Given the description of an element on the screen output the (x, y) to click on. 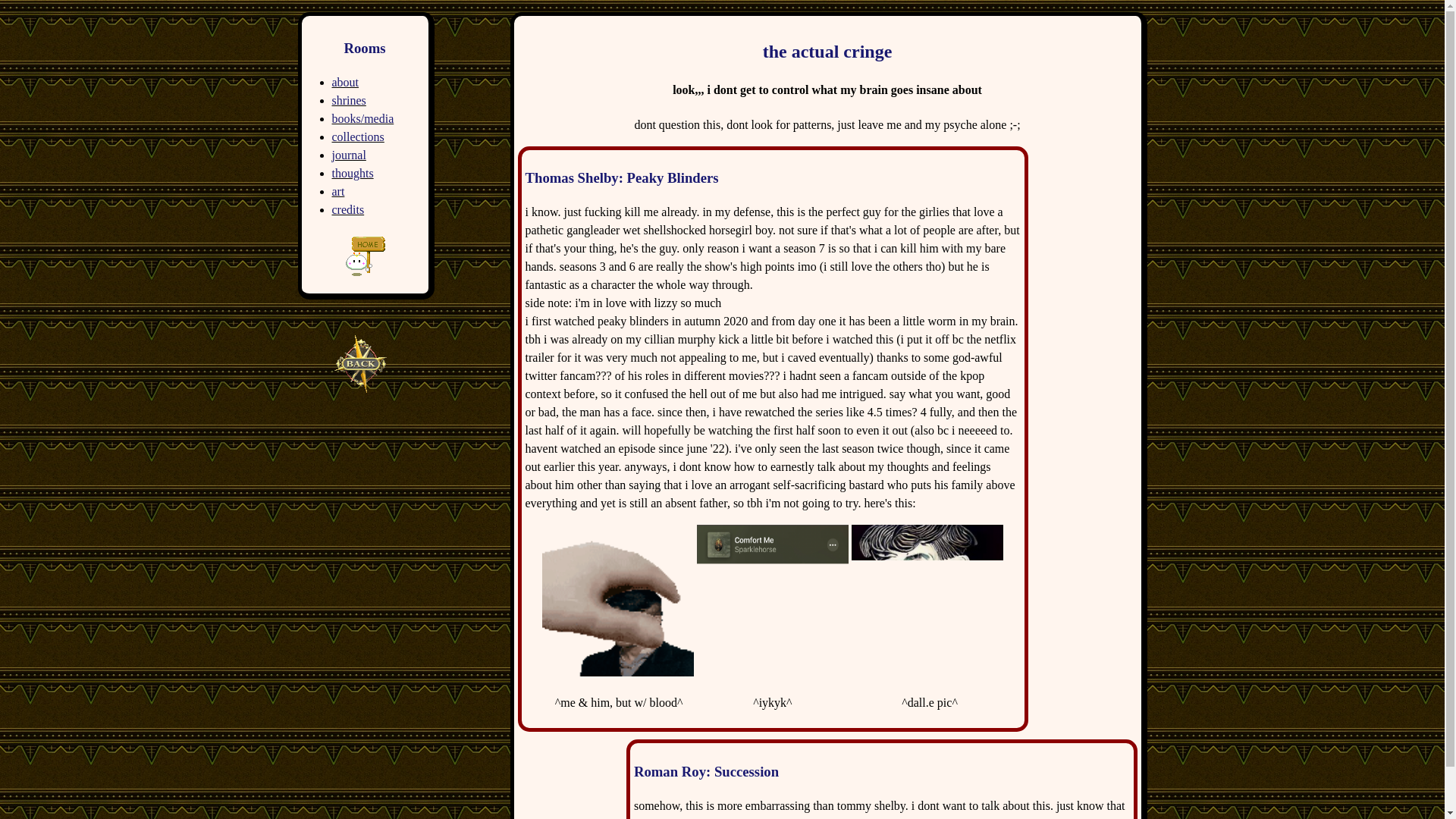
art (338, 191)
shrines (348, 100)
credits (348, 209)
journal (348, 154)
thoughts (352, 173)
collections (357, 136)
about (345, 82)
